Given the description of an element on the screen output the (x, y) to click on. 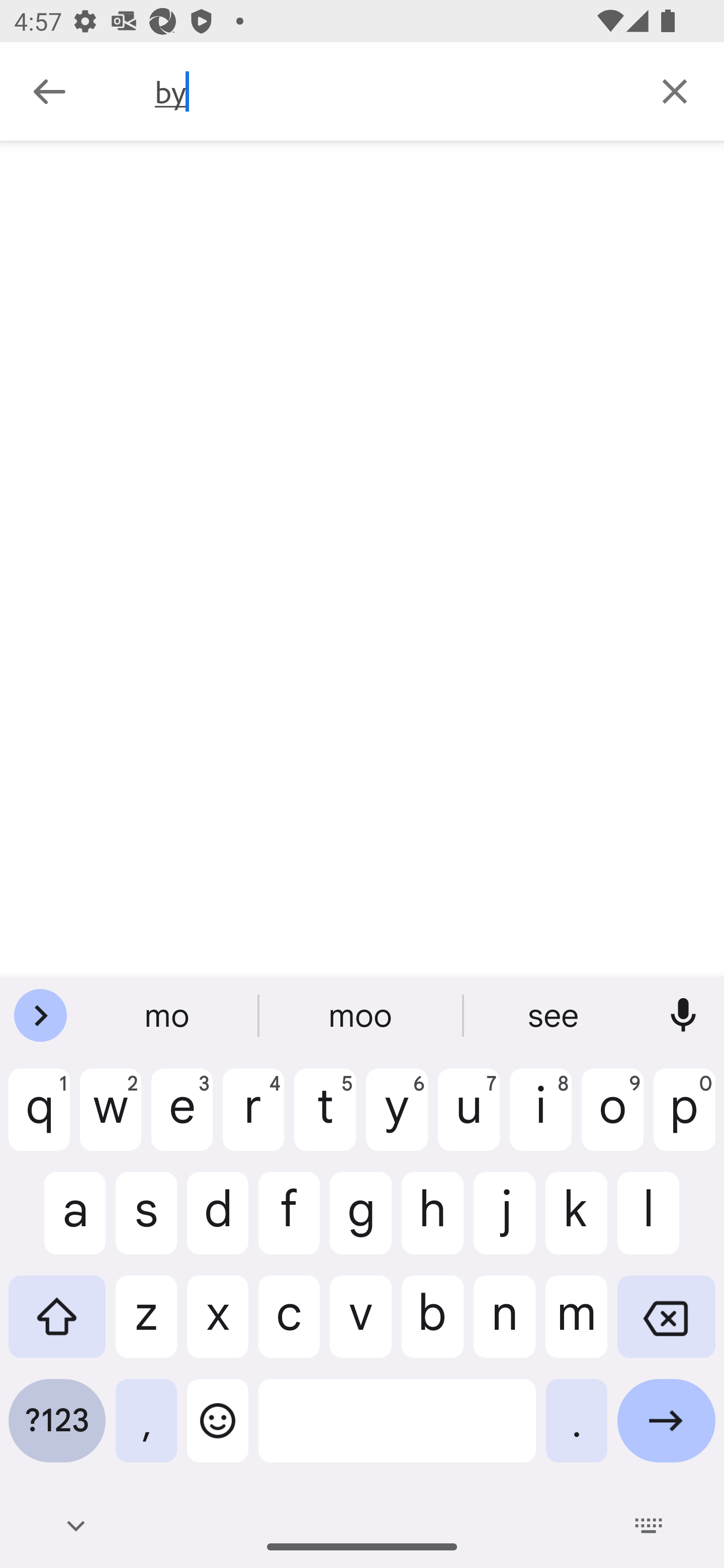
Navigate up (49, 91)
Clear query (674, 90)
by (389, 91)
